Given the description of an element on the screen output the (x, y) to click on. 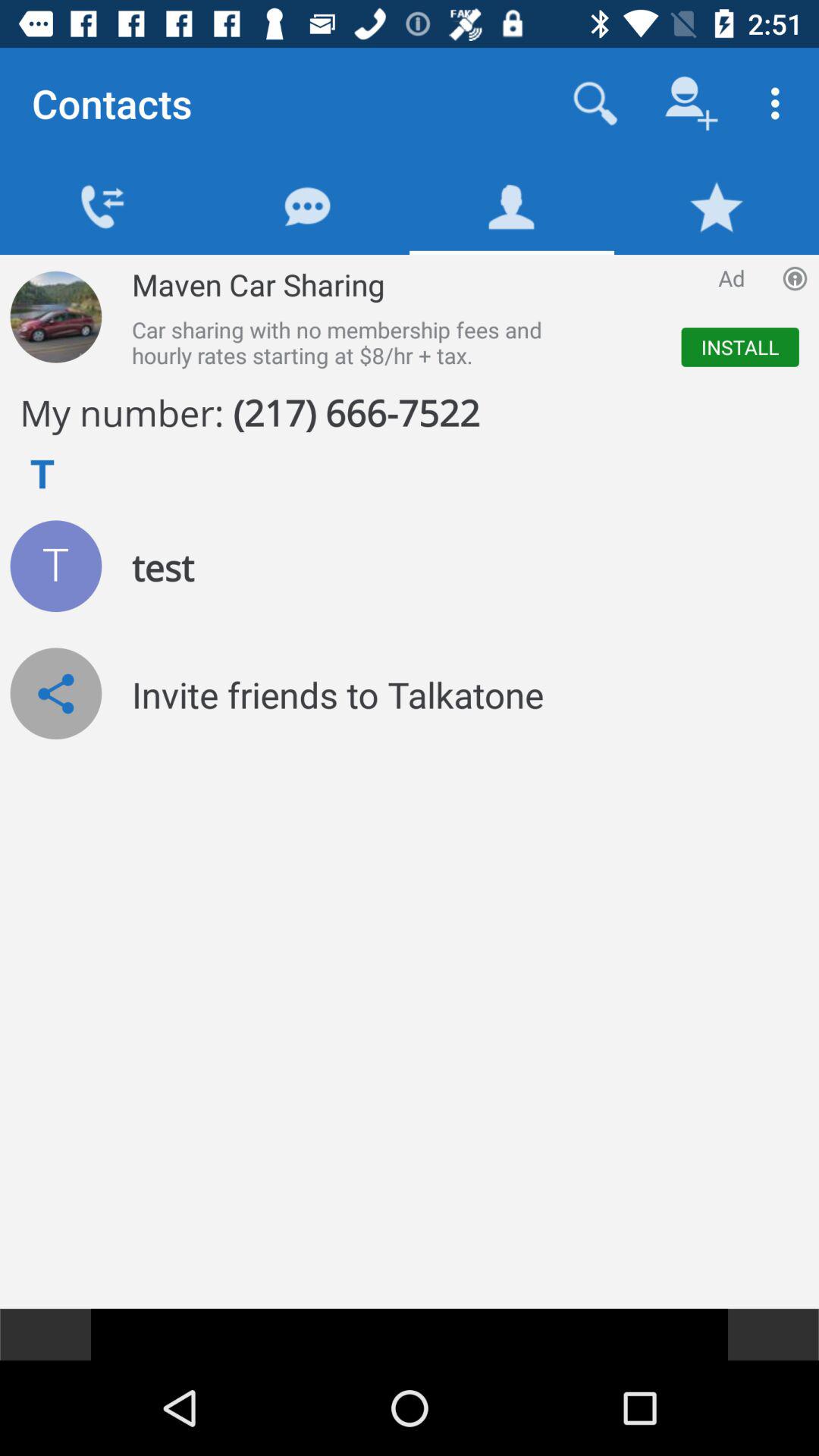
click advertisement info (795, 278)
